Given the description of an element on the screen output the (x, y) to click on. 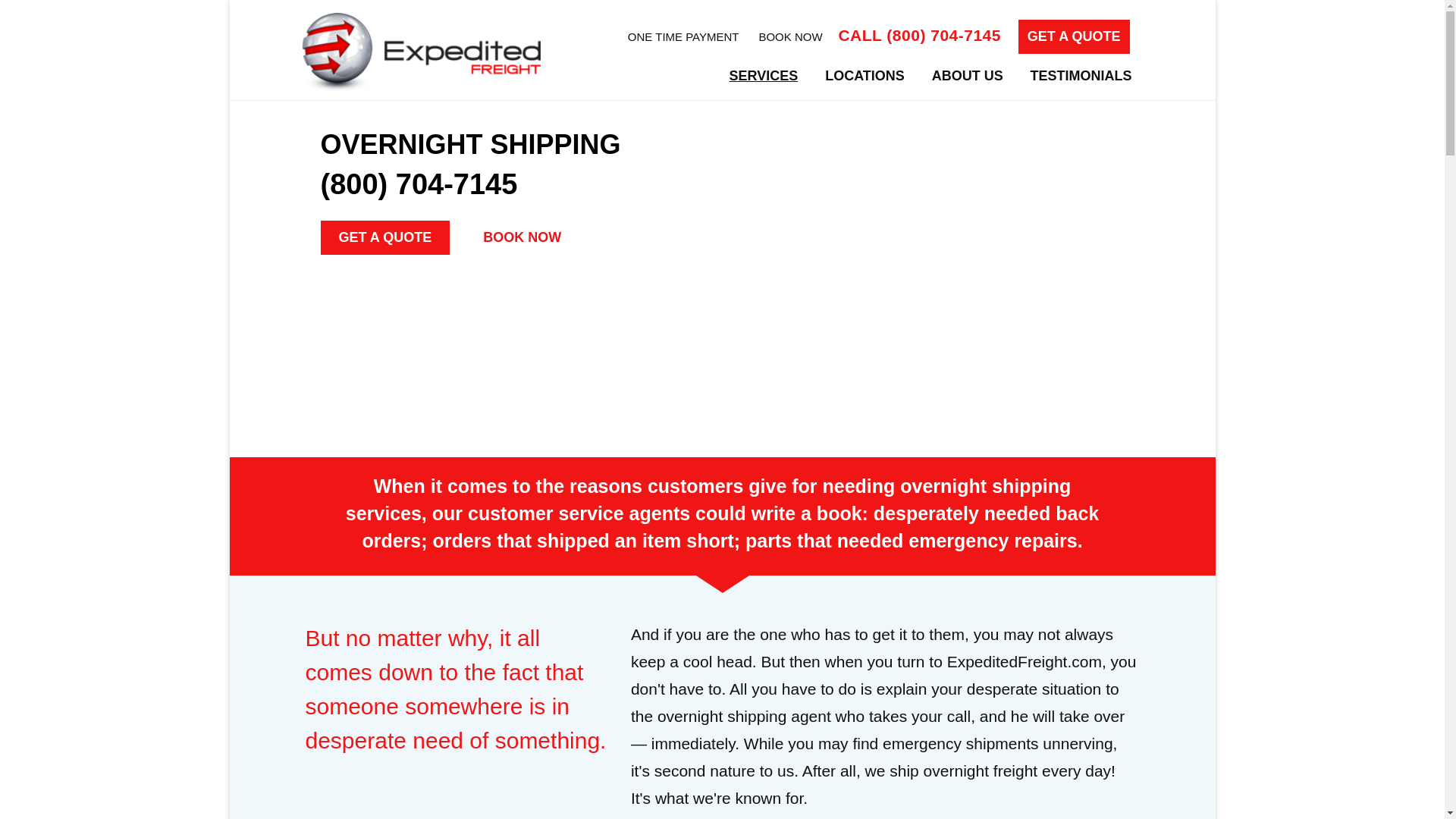
GET A QUOTE (1073, 36)
BOOK NOW (790, 36)
LOCATIONS (864, 75)
ONE TIME PAYMENT (687, 36)
GET A QUOTE (384, 237)
SERVICES (763, 75)
Expedited Freight (420, 52)
TESTIMONIALS (1080, 75)
BOOK NOW (521, 237)
ABOUT US (967, 75)
